Given the description of an element on the screen output the (x, y) to click on. 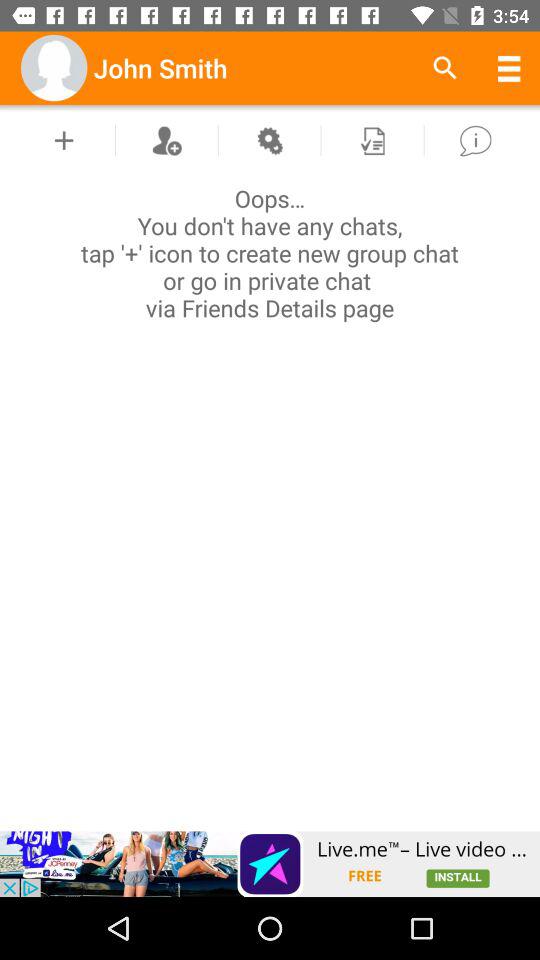
advertisements are displayed (270, 864)
